Given the description of an element on the screen output the (x, y) to click on. 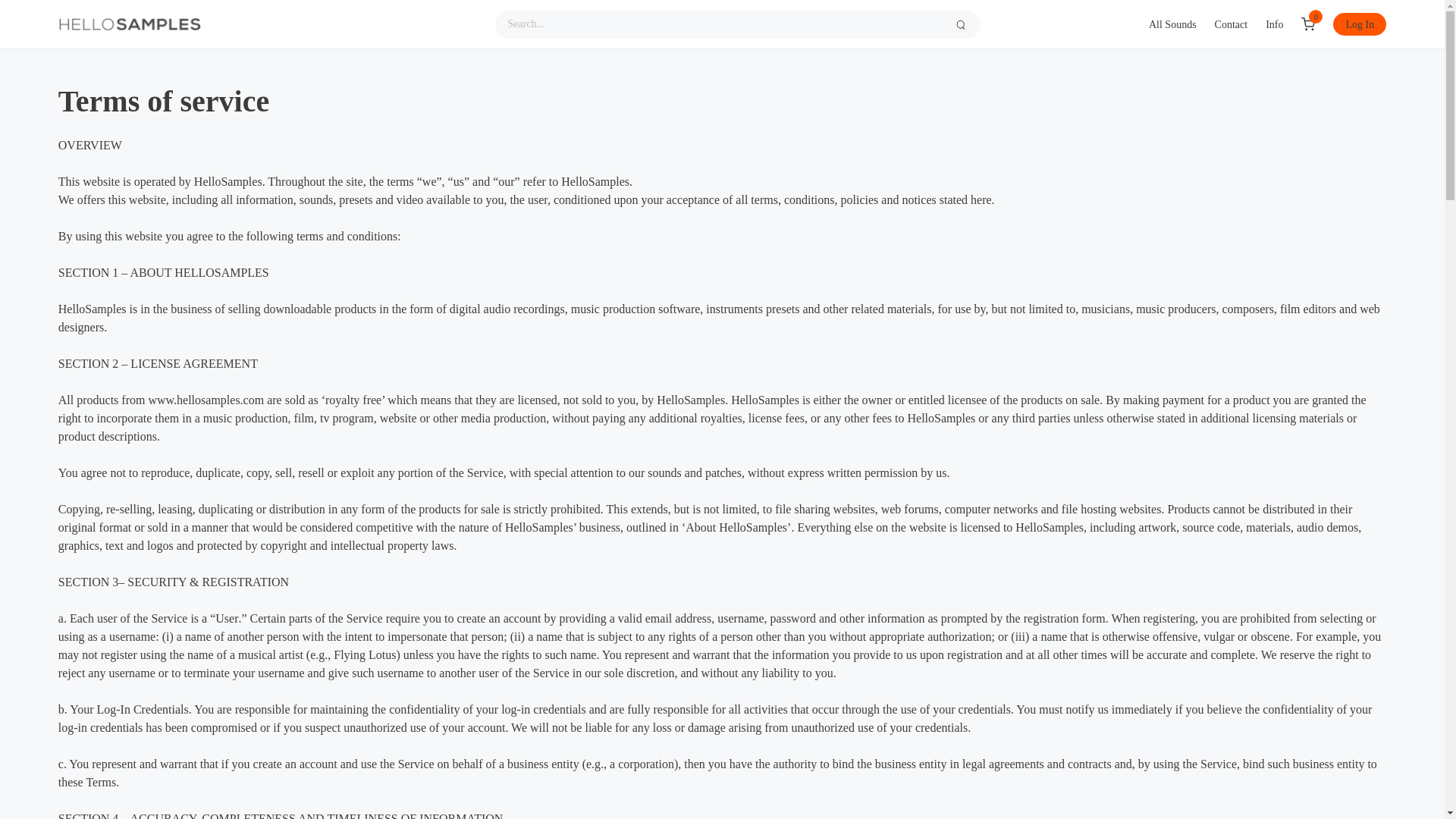
0 (1308, 24)
Contact (1231, 24)
Info (1274, 24)
Log In (1359, 24)
All Sounds (1172, 24)
